Given the description of an element on the screen output the (x, y) to click on. 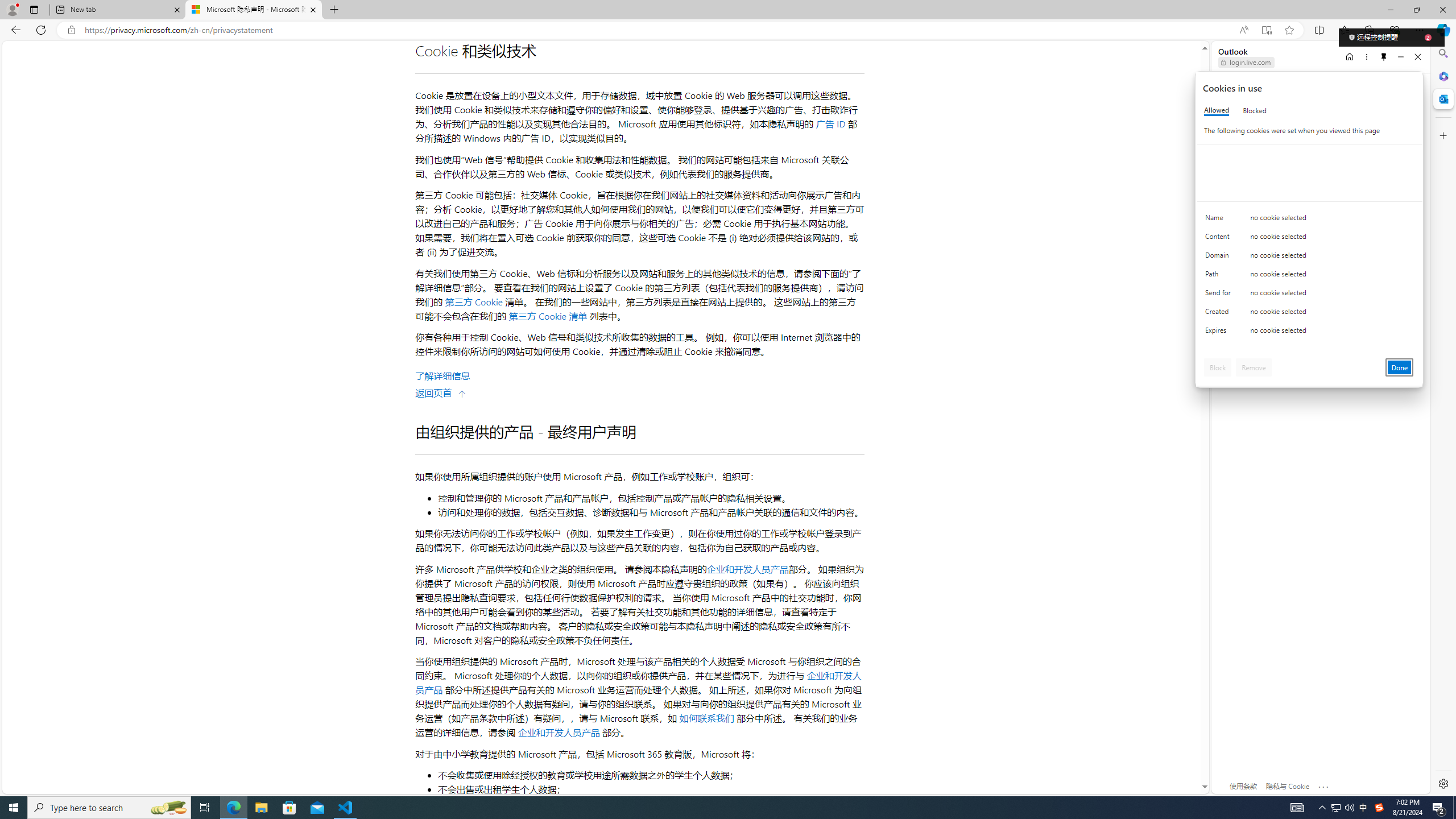
Content (1219, 239)
Domain (1219, 257)
Allowed (1216, 110)
Block (1217, 367)
no cookie selected (1331, 332)
Remove (1253, 367)
Class: c0153 c0157 c0154 (1309, 220)
Class: c0153 c0157 (1309, 332)
Expires (1219, 332)
Done (1399, 367)
Name (1219, 220)
Path (1219, 276)
Created (1219, 313)
Blocked (1255, 110)
Send for (1219, 295)
